Given the description of an element on the screen output the (x, y) to click on. 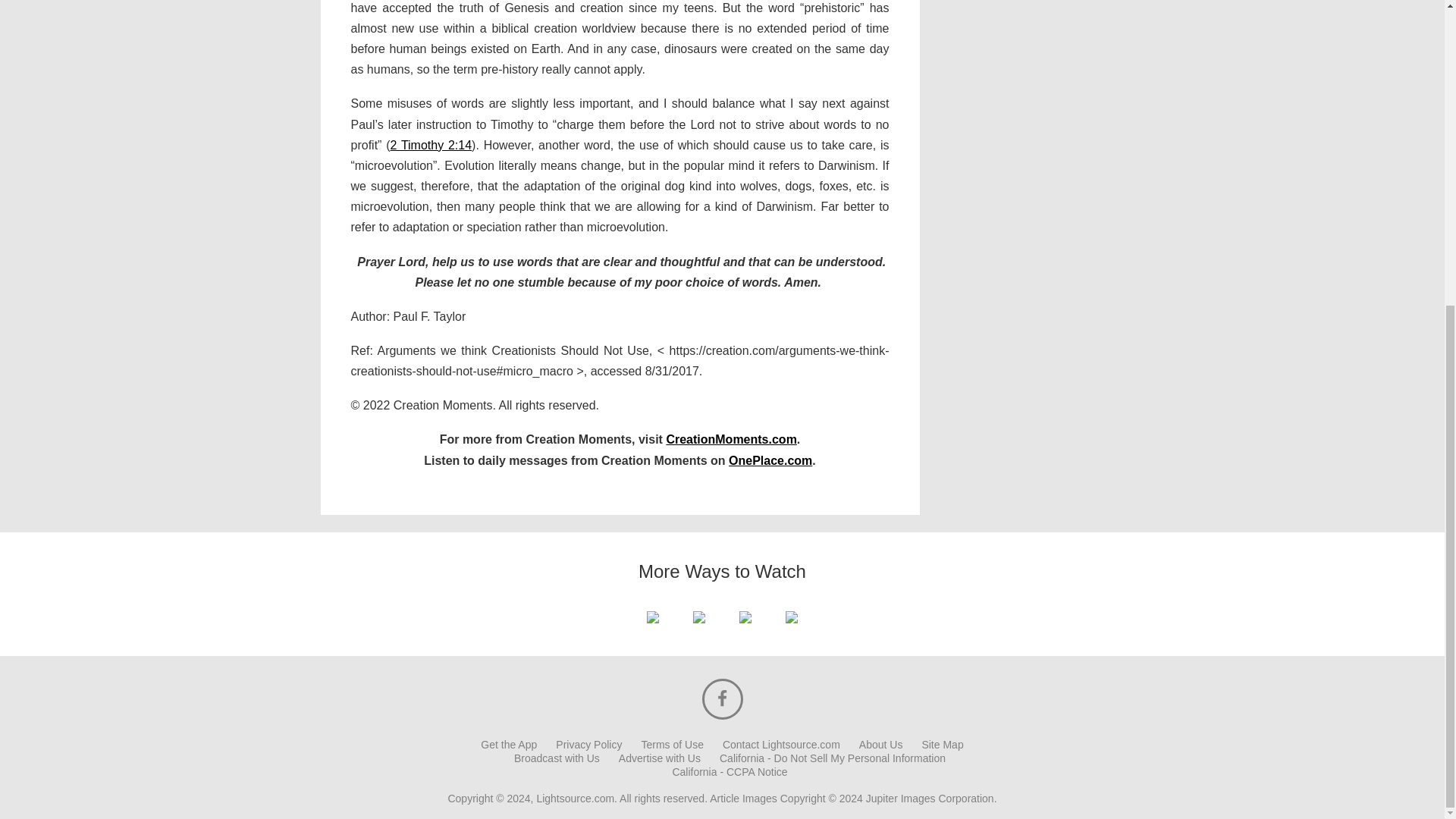
About Us (880, 744)
California - Do Not Sell My Personal Information (831, 757)
Site Map (941, 744)
Get the App (508, 744)
2 Timothy 2:14 (430, 144)
Contact Lightsource.com (781, 744)
Privacy Policy (588, 744)
Broadcast with Us (556, 757)
Terms of Use (671, 744)
CreationMoments.com (730, 439)
California - CCPA Notice (729, 771)
OnePlace.com (770, 459)
Advertise with Us (659, 757)
